Given the description of an element on the screen output the (x, y) to click on. 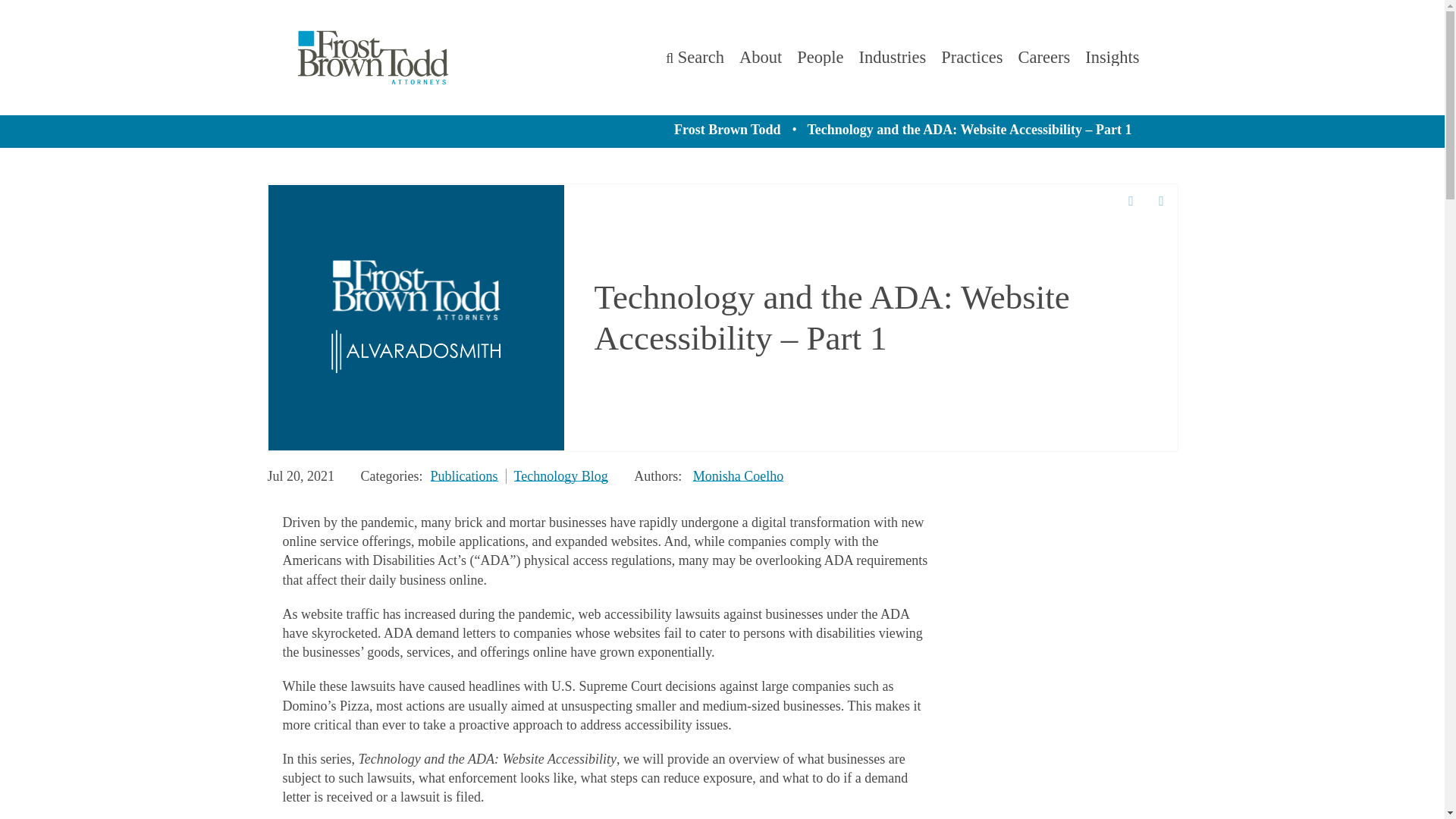
About (760, 57)
Industries (892, 57)
Search (694, 56)
People (819, 56)
